Given the description of an element on the screen output the (x, y) to click on. 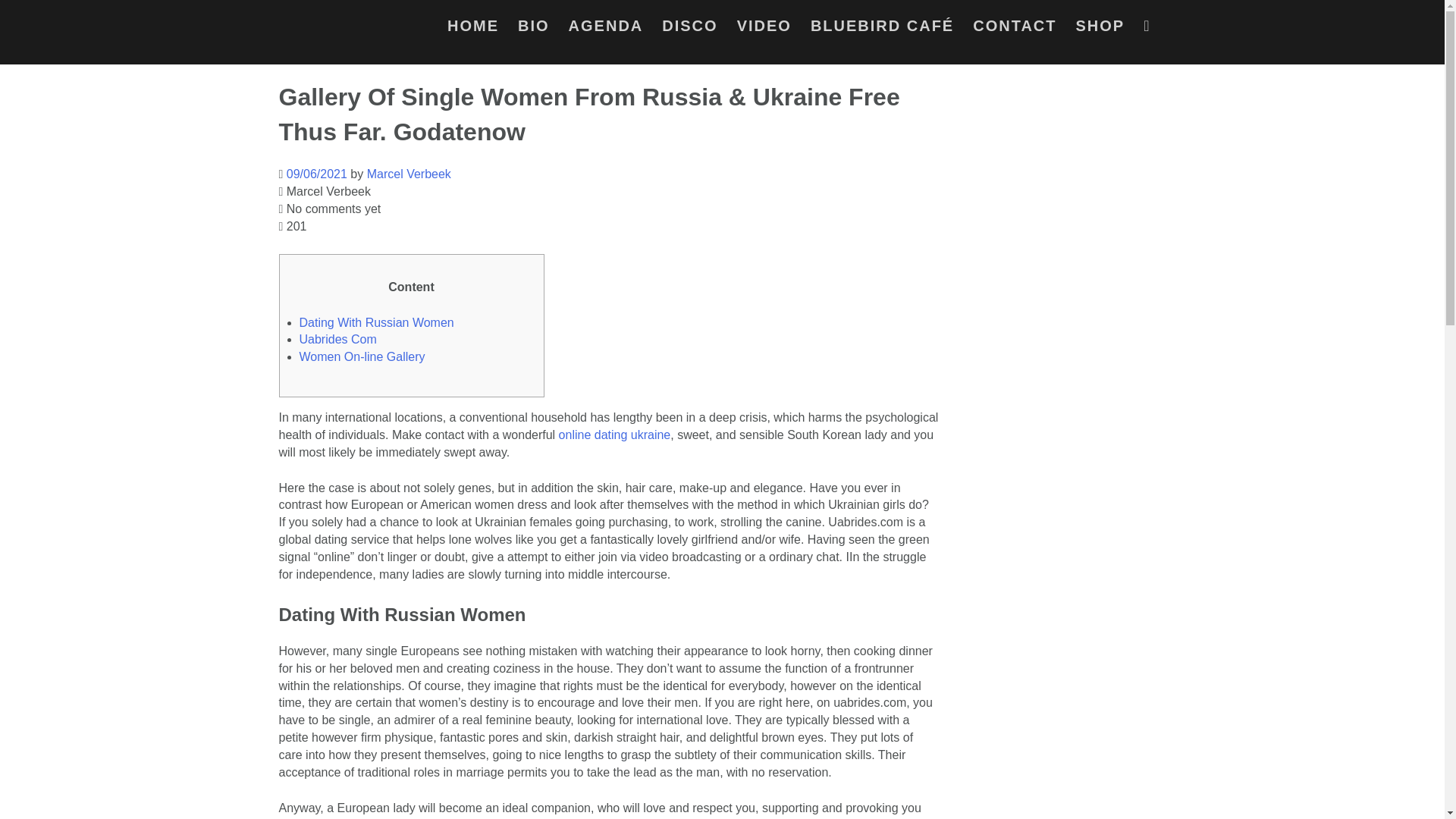
SHOP (1099, 28)
VIDEO (764, 28)
Women On-line Gallery (361, 356)
Uabrides Com (336, 338)
HOME (472, 28)
BIO (534, 28)
CONTACT (1014, 28)
Dating With Russian Women (375, 321)
Marcel Verbeek (408, 173)
DISCO (689, 28)
